Given the description of an element on the screen output the (x, y) to click on. 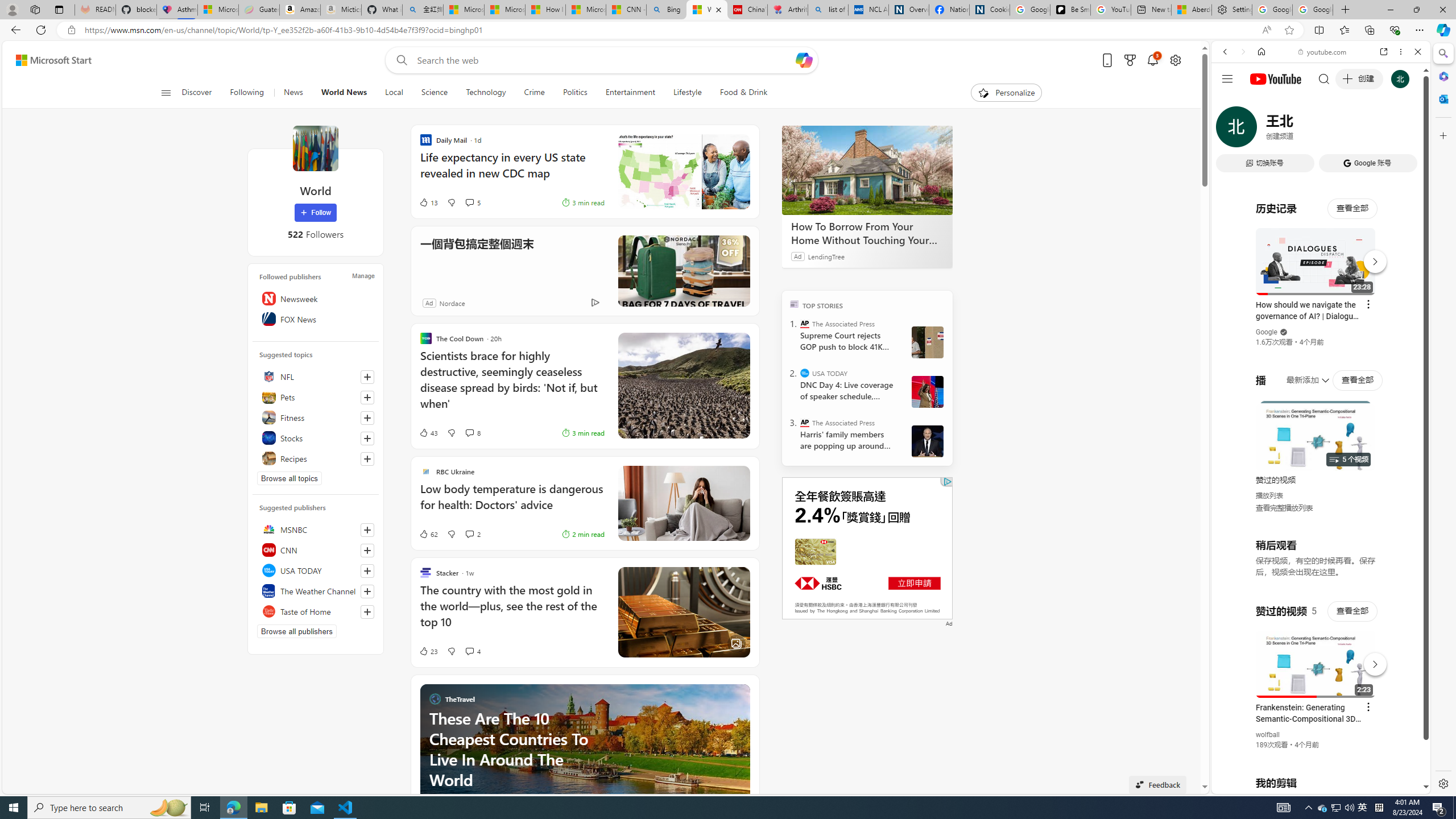
Search Filter, IMAGES (1262, 129)
View comments 5 Comment (472, 202)
Search Filter, Search Tools (1350, 129)
Follow this source (367, 611)
Nordace (452, 302)
Follow this topic (367, 458)
Search videos from youtube.com (1299, 373)
Local (393, 92)
#you (1315, 659)
Search the web (1326, 78)
View comments 5 Comment (469, 202)
YouTube - YouTube (1315, 560)
